Given the description of an element on the screen output the (x, y) to click on. 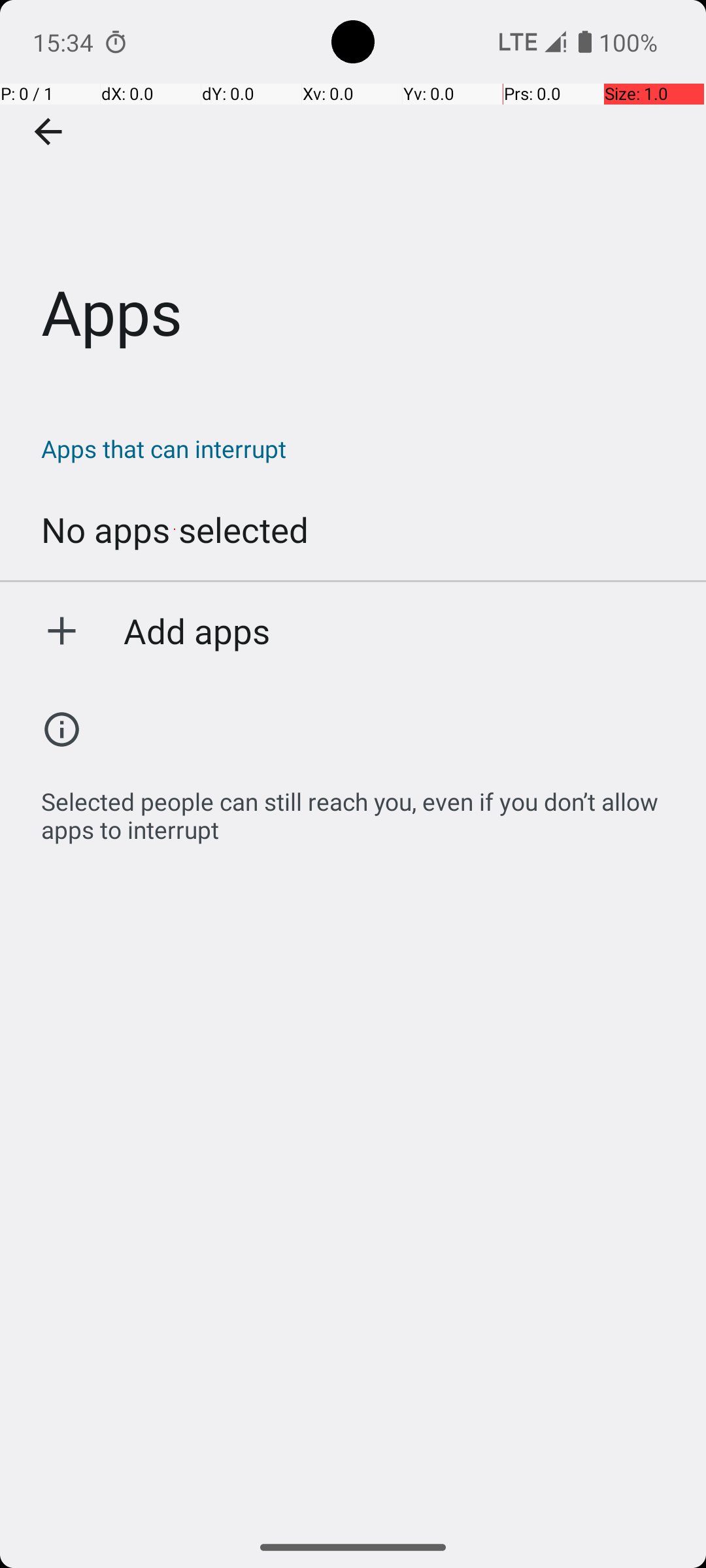
Apps that can interrupt Element type: android.widget.TextView (359, 448)
No apps selected Element type: android.widget.TextView (174, 529)
Add apps Element type: android.widget.TextView (196, 630)
Selected people can still reach you, even if you don’t allow apps to interrupt Element type: android.widget.TextView (359, 808)
